Given the description of an element on the screen output the (x, y) to click on. 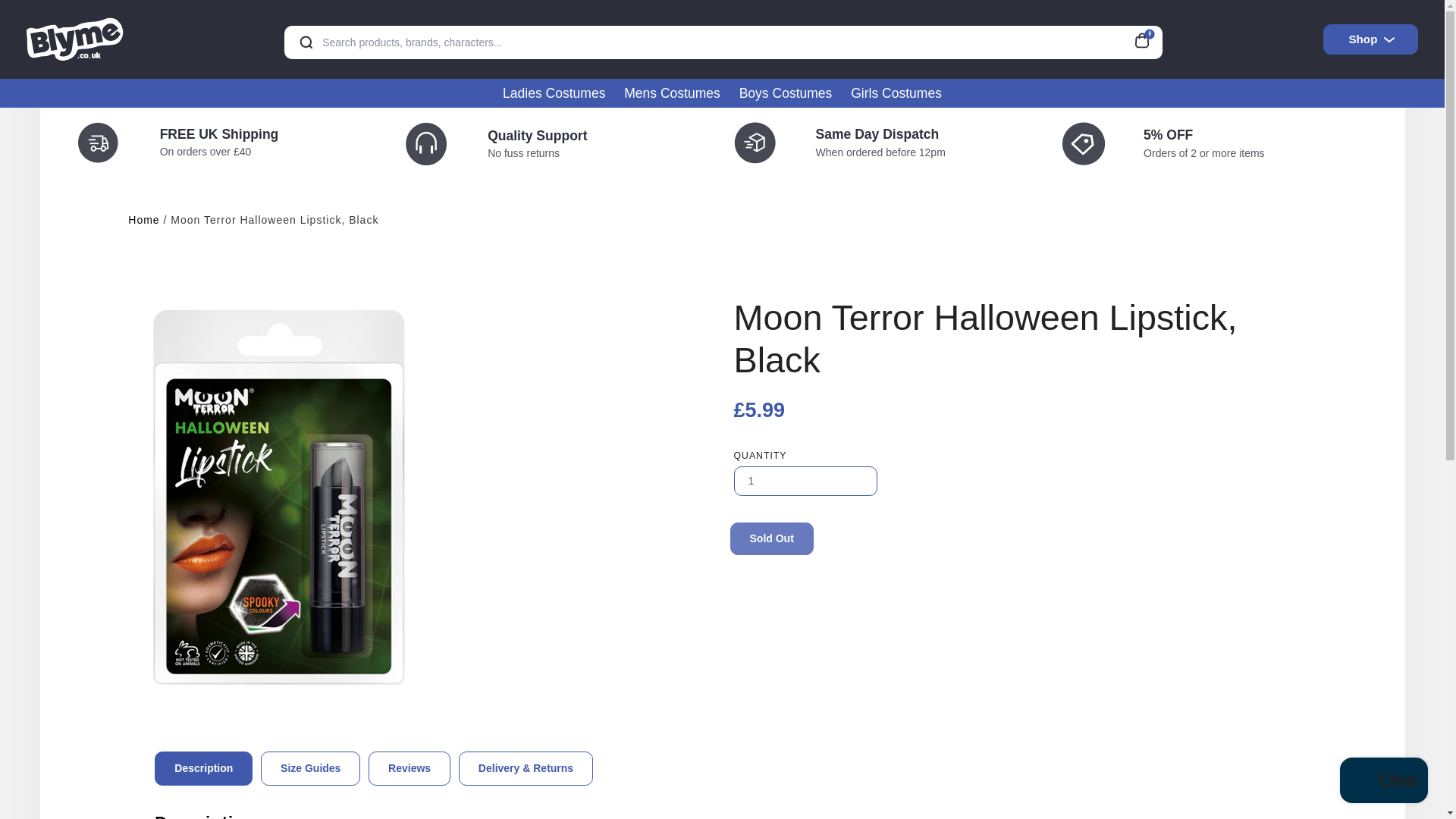
View your Basket (1147, 38)
0 (1147, 38)
1 (805, 481)
Home (143, 220)
0 (1147, 38)
